Given the description of an element on the screen output the (x, y) to click on. 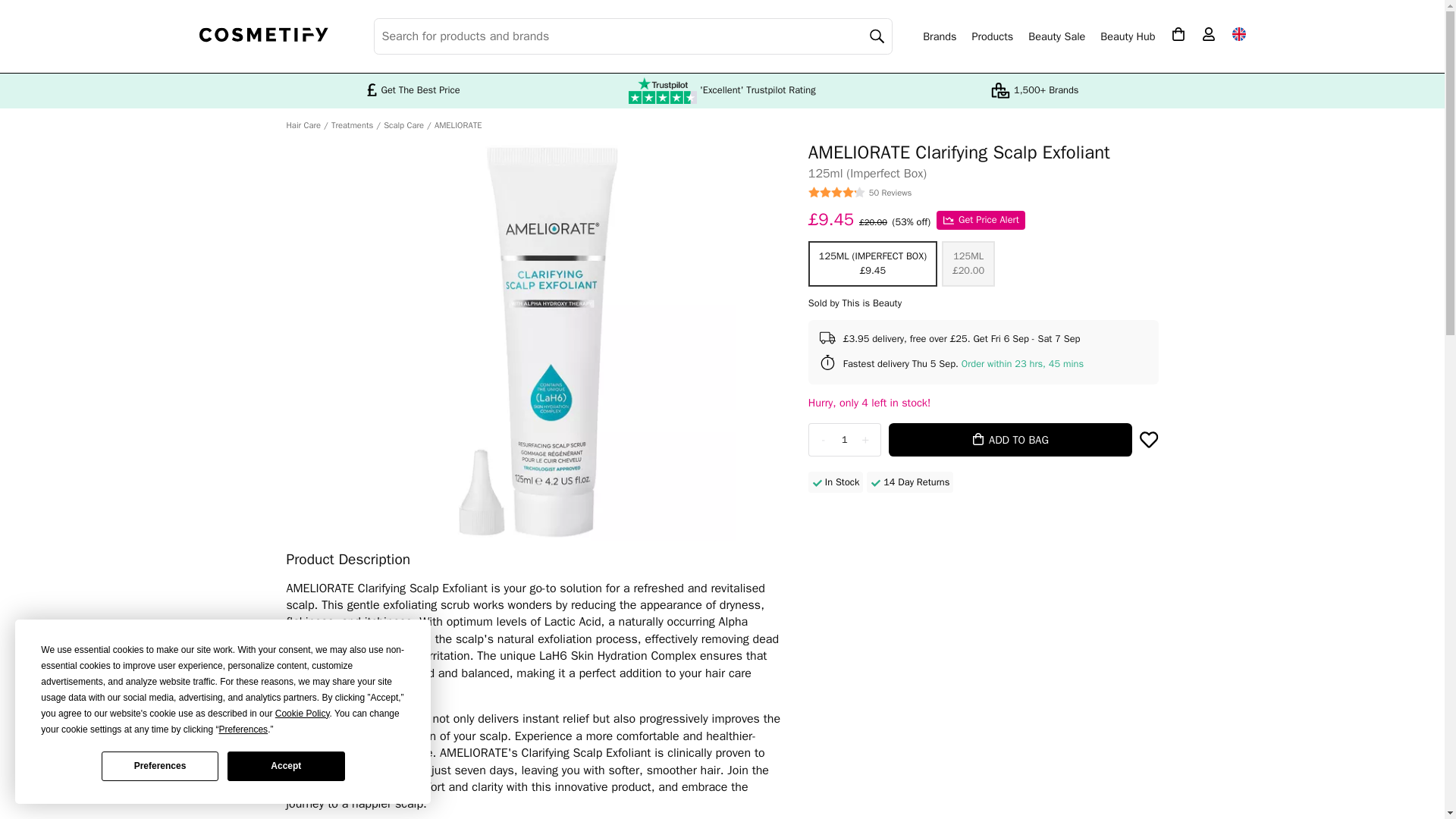
Products (992, 36)
Beauty Hub (1127, 36)
Brands (939, 36)
Beauty Sale (1055, 36)
Accept (285, 766)
Preferences (159, 766)
